Given the description of an element on the screen output the (x, y) to click on. 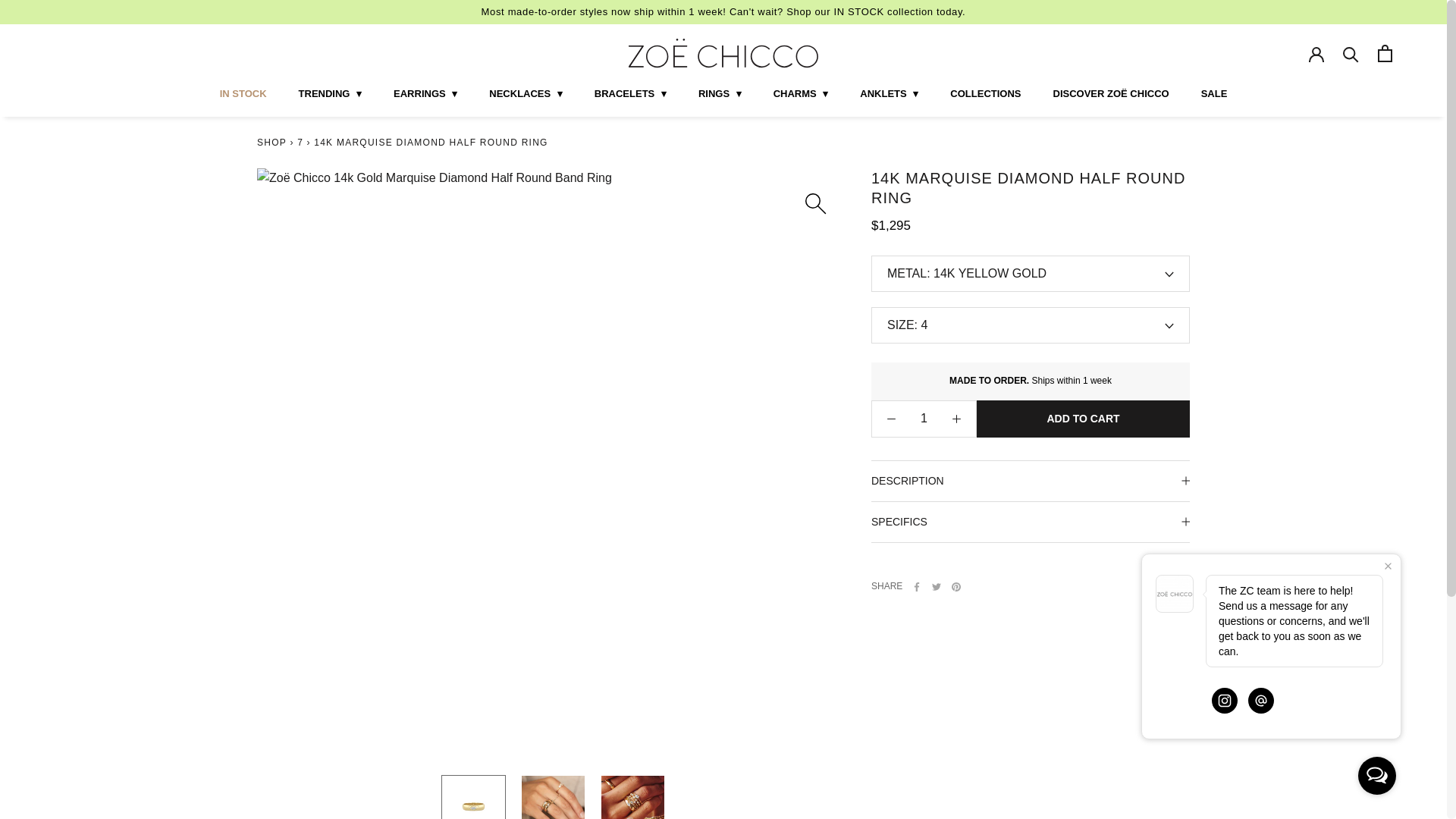
1 (924, 418)
Shop (271, 142)
